Given the description of an element on the screen output the (x, y) to click on. 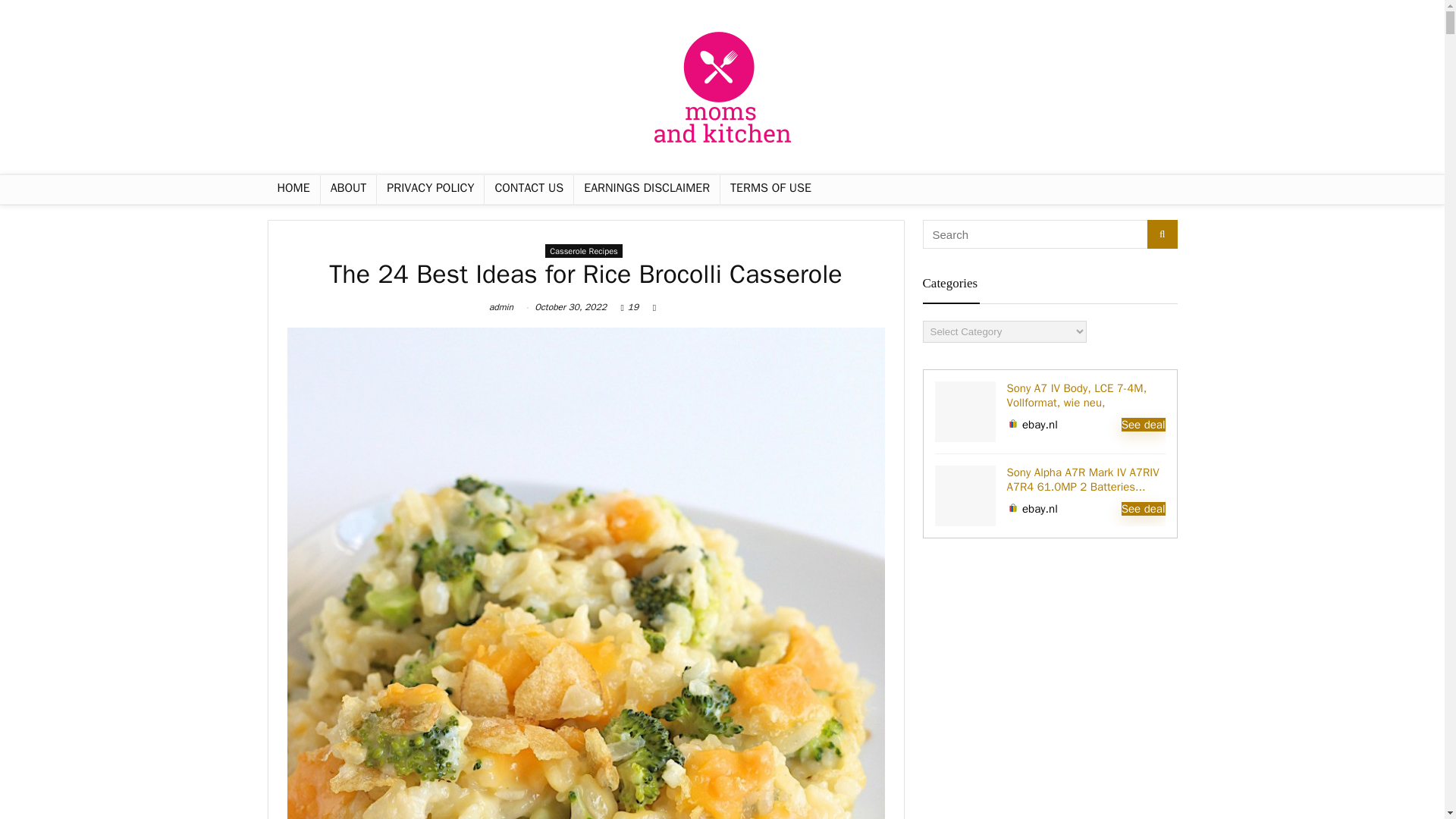
ABOUT (348, 189)
admin (501, 306)
EARNINGS DISCLAIMER (646, 189)
Casserole Recipes (583, 250)
PRIVACY POLICY (430, 189)
HOME (292, 189)
View all posts in Casserole Recipes (583, 250)
TERMS OF USE (770, 189)
CONTACT US (528, 189)
